Given the description of an element on the screen output the (x, y) to click on. 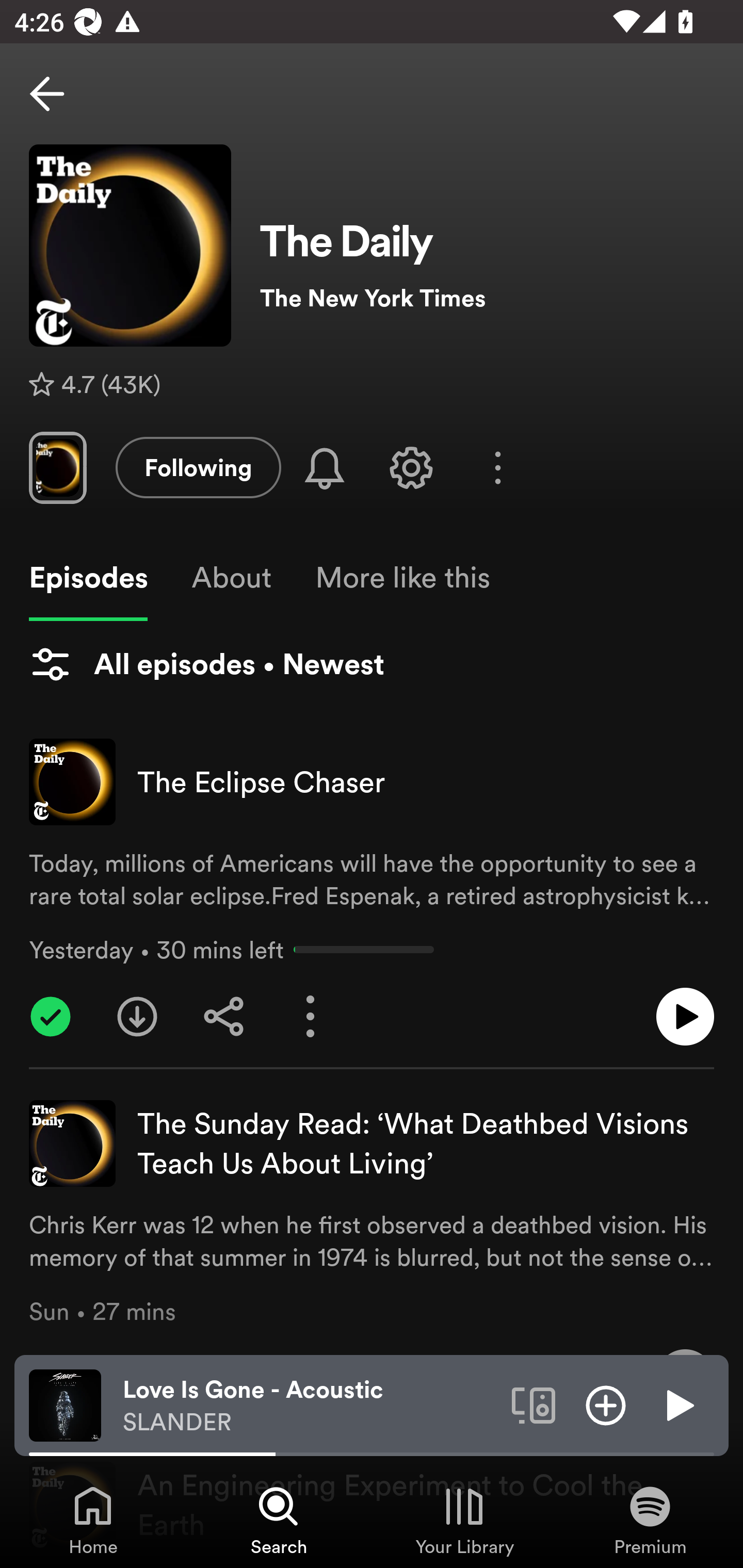
Back (46, 93)
The New York Times (487, 297)
Following Unfollow this show (197, 466)
Settings for this Show. (410, 467)
More options for show The Daily (497, 467)
About (231, 577)
More like this (402, 577)
All episodes • Newest (206, 663)
The Eclipse Chaser added to Your Episodes (50, 1016)
Download episode: The Eclipse Chaser (136, 1016)
Share (223, 1016)
More options for episode The Eclipse Chaser (310, 1016)
Play episode: The Eclipse Chaser (684, 1016)
Love Is Gone - Acoustic SLANDER (309, 1405)
The cover art of the currently playing track (64, 1404)
Connect to a device. Opens the devices menu (533, 1404)
Add item (605, 1404)
Play (677, 1404)
Home, Tab 1 of 4 Home Home (92, 1519)
Search, Tab 2 of 4 Search Search (278, 1519)
Your Library, Tab 3 of 4 Your Library Your Library (464, 1519)
Premium, Tab 4 of 4 Premium Premium (650, 1519)
